Given the description of an element on the screen output the (x, y) to click on. 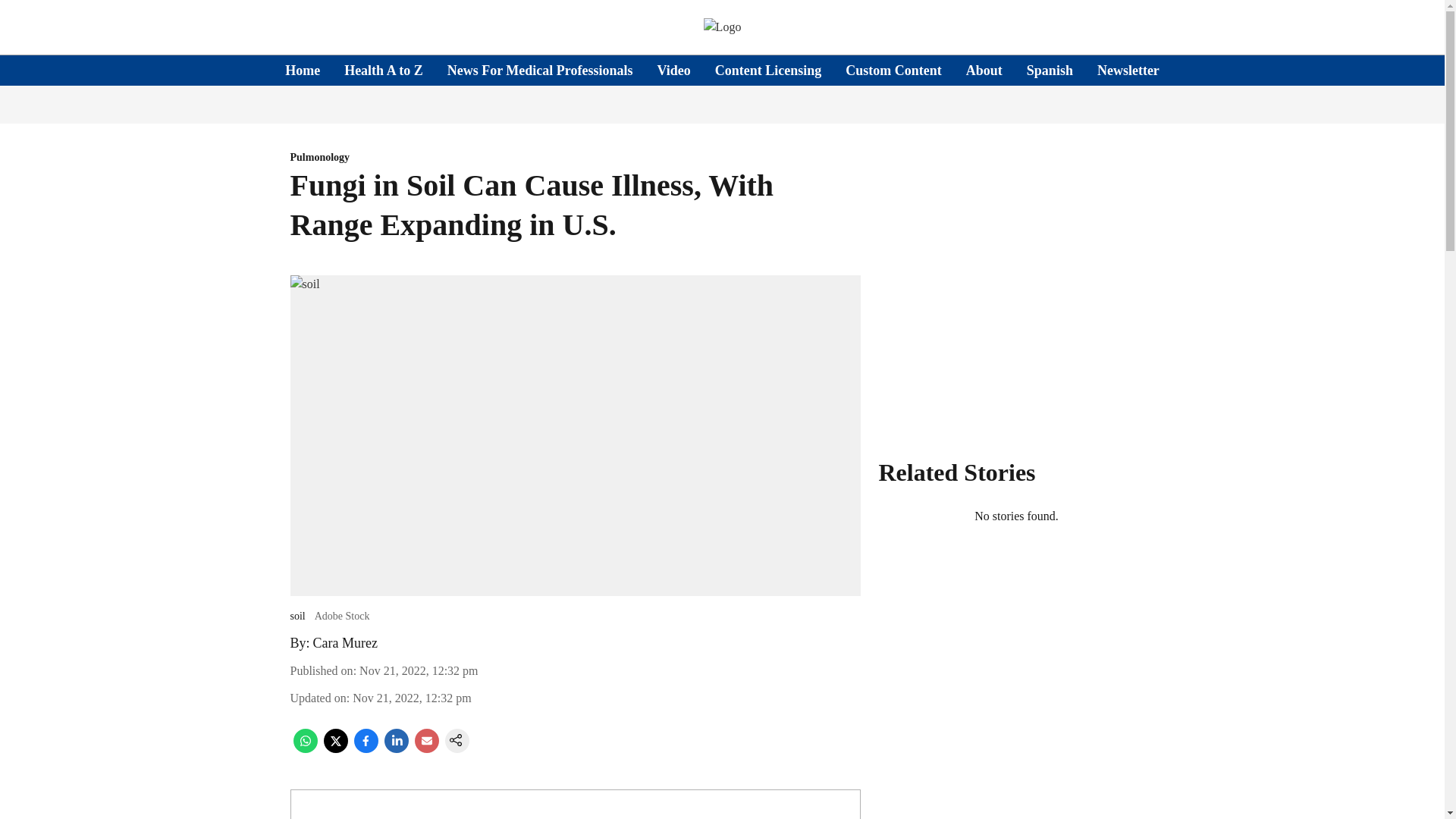
2022-11-21 12:32 (411, 697)
Home (302, 70)
Health A to Z (383, 70)
2022-11-21 12:32 (418, 670)
